Given the description of an element on the screen output the (x, y) to click on. 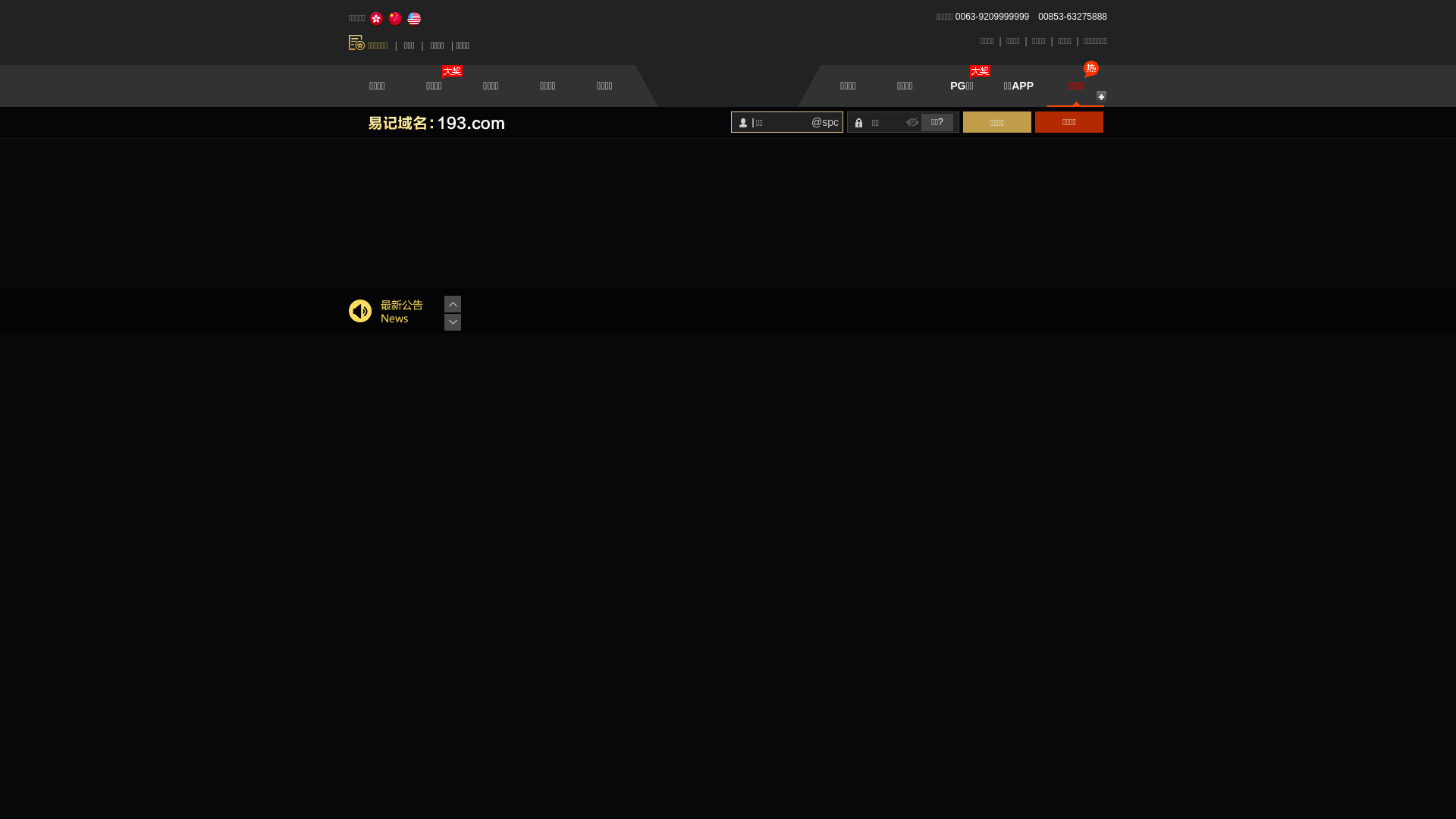
English Element type: hover (413, 18)
